Given the description of an element on the screen output the (x, y) to click on. 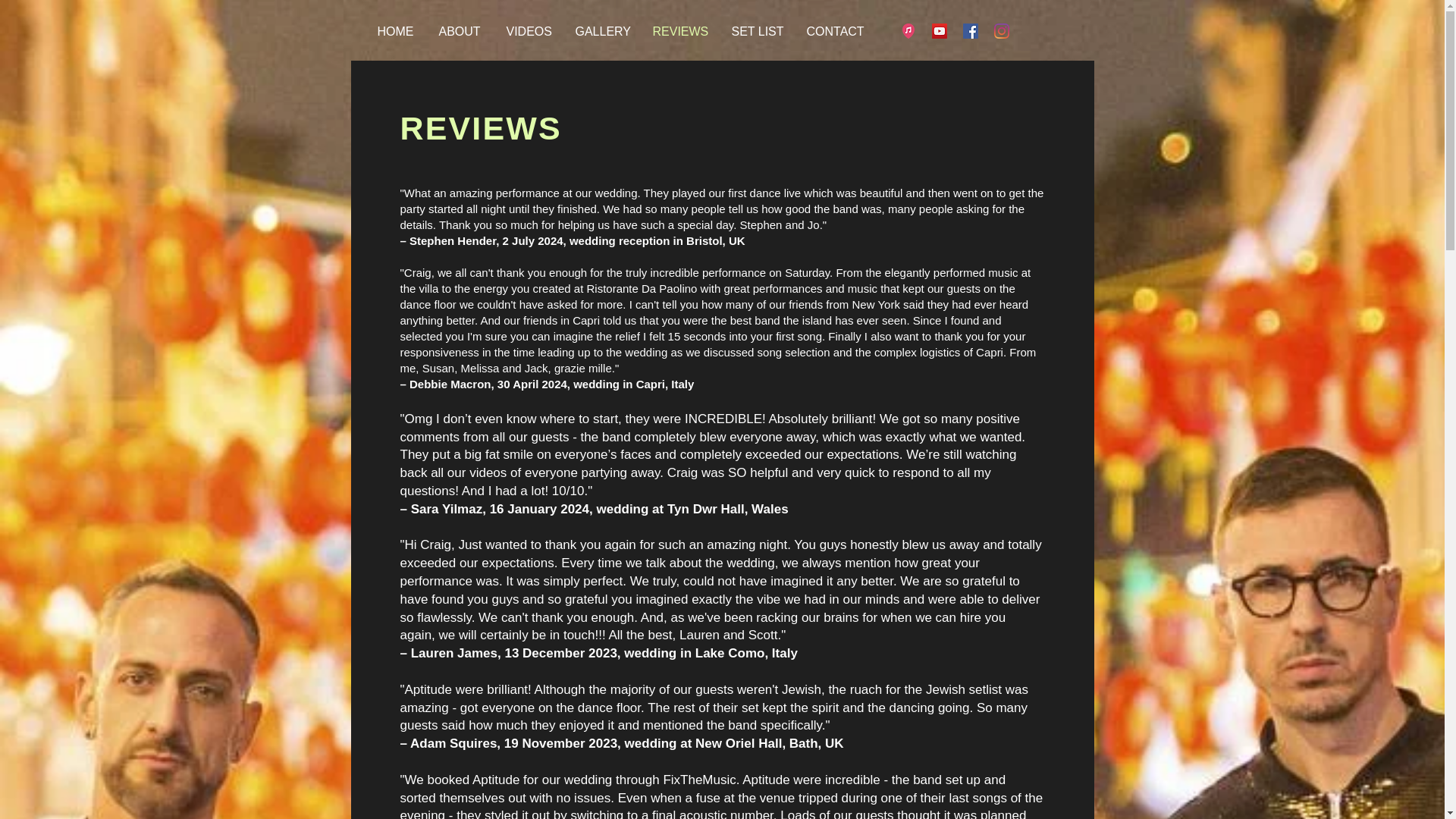
GALLERY (606, 30)
ABOUT (463, 30)
REVIEWS (684, 30)
SET LIST (760, 30)
CONTACT (839, 30)
VIDEOS (533, 30)
HOME (399, 30)
